Given the description of an element on the screen output the (x, y) to click on. 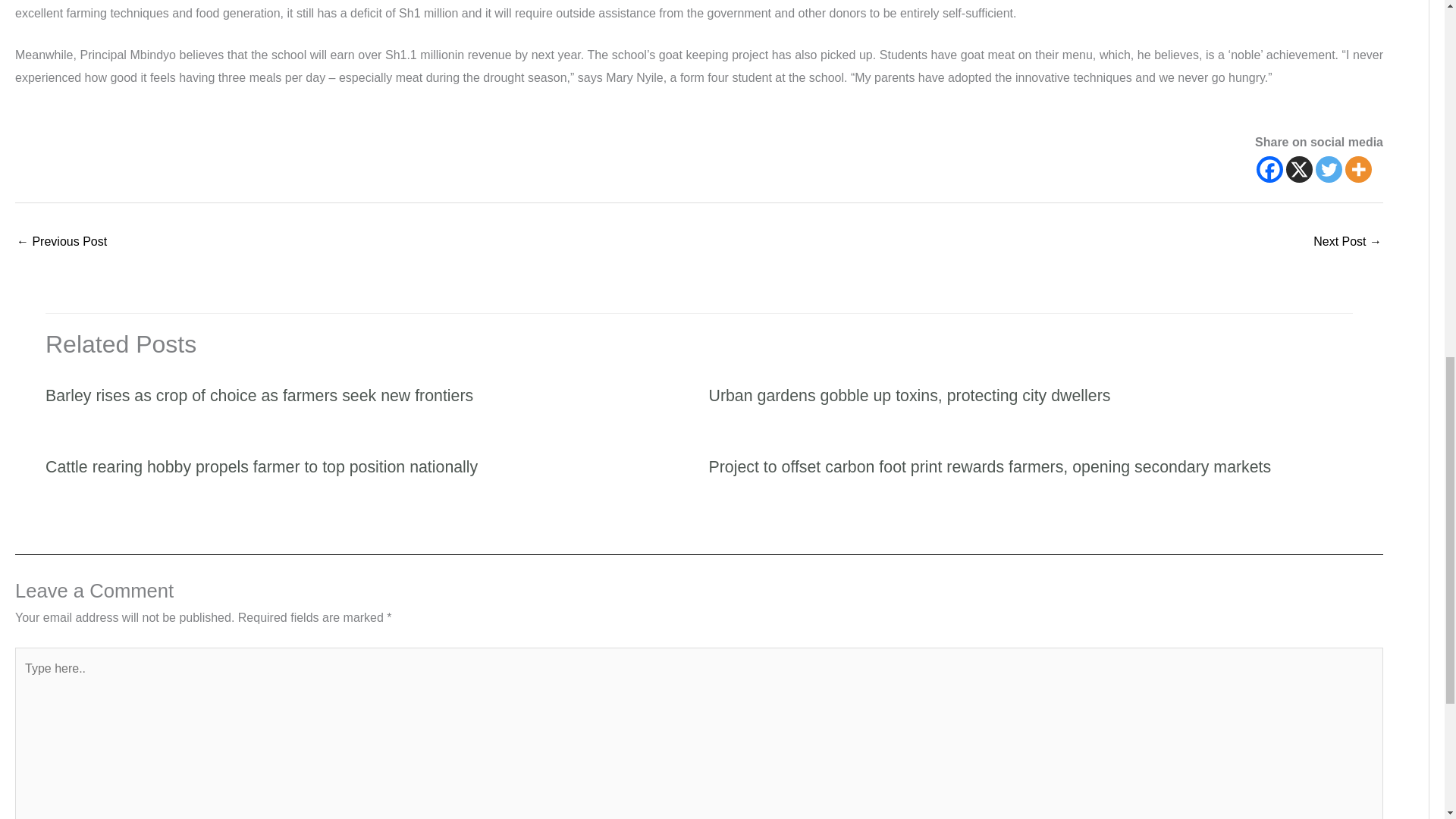
Passion opens international markets for farmer association (61, 243)
More (1358, 169)
Barley rises as crop of choice as farmers seek new frontiers (259, 395)
Facebook (1269, 169)
X (1299, 169)
Urban gardens gobble up toxins, protecting city dwellers (908, 395)
Twitter (1329, 169)
